Given the description of an element on the screen output the (x, y) to click on. 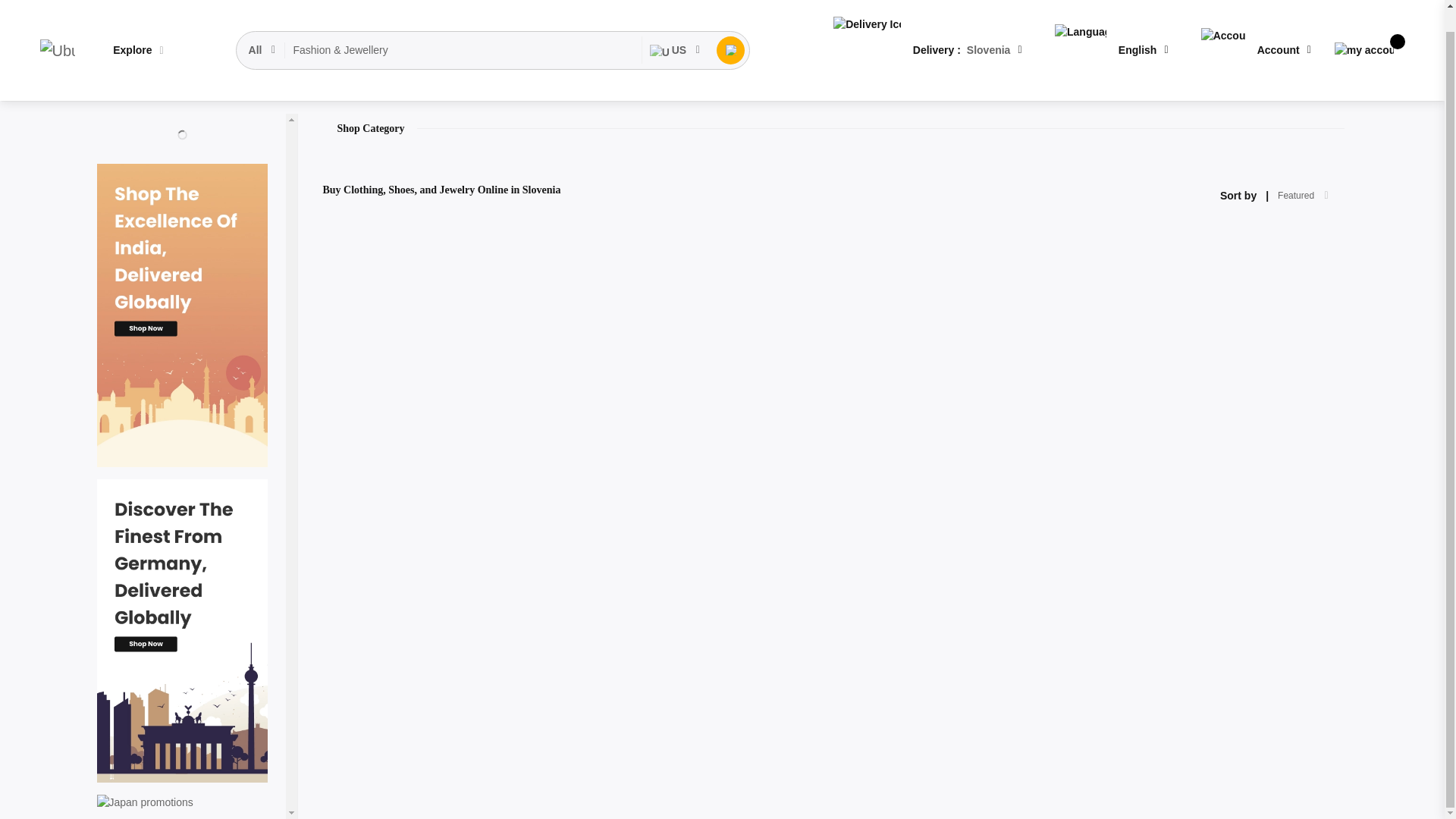
All (263, 28)
Home Page (124, 89)
Ubuy (57, 28)
Home Page (124, 89)
Cart (1364, 27)
US (675, 28)
